Given the description of an element on the screen output the (x, y) to click on. 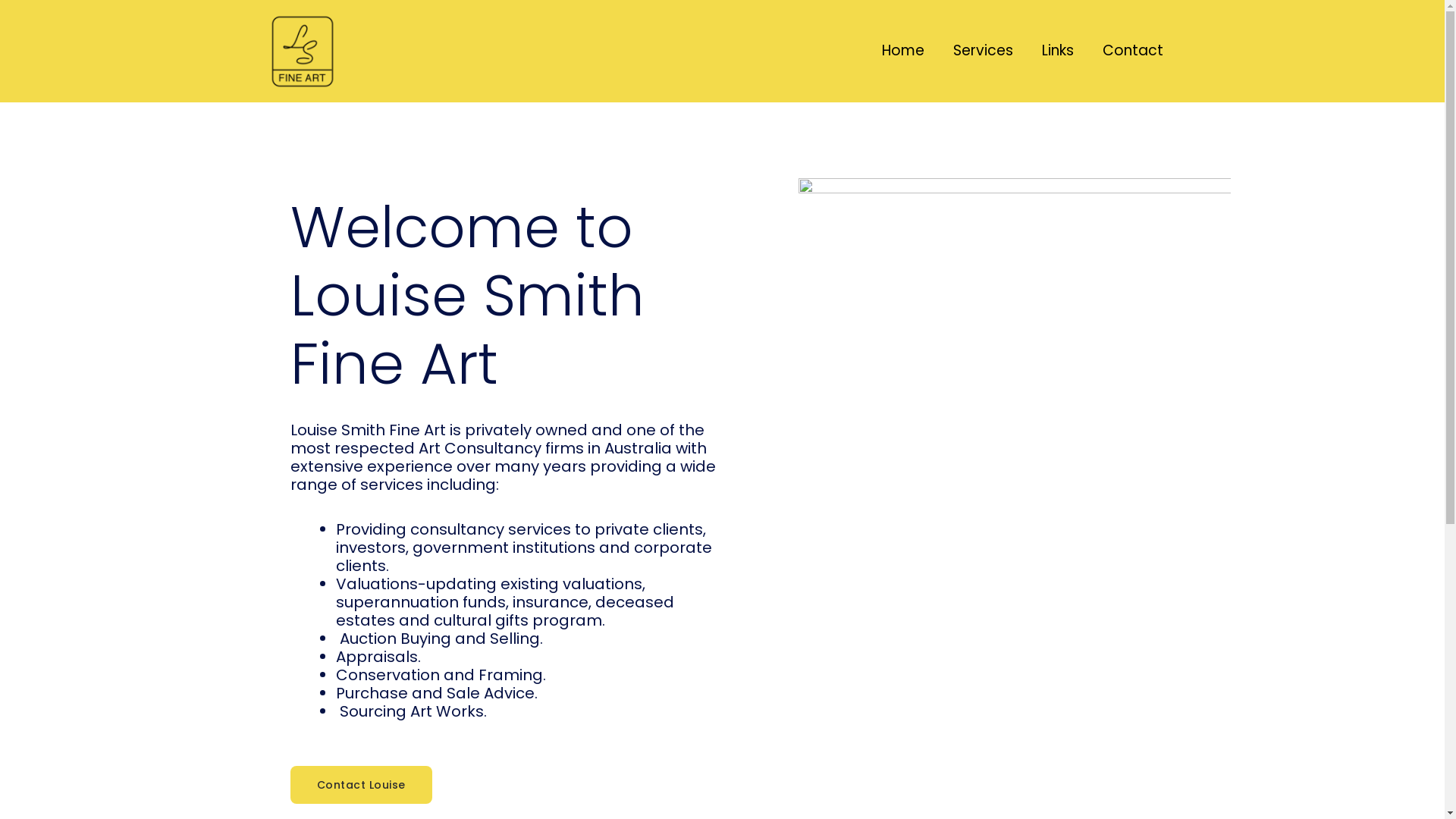
Contact Element type: text (1131, 50)
Home Element type: text (902, 50)
Links Element type: text (1056, 50)
Services Element type: text (982, 50)
Contact Louise Element type: text (360, 784)
